Given the description of an element on the screen output the (x, y) to click on. 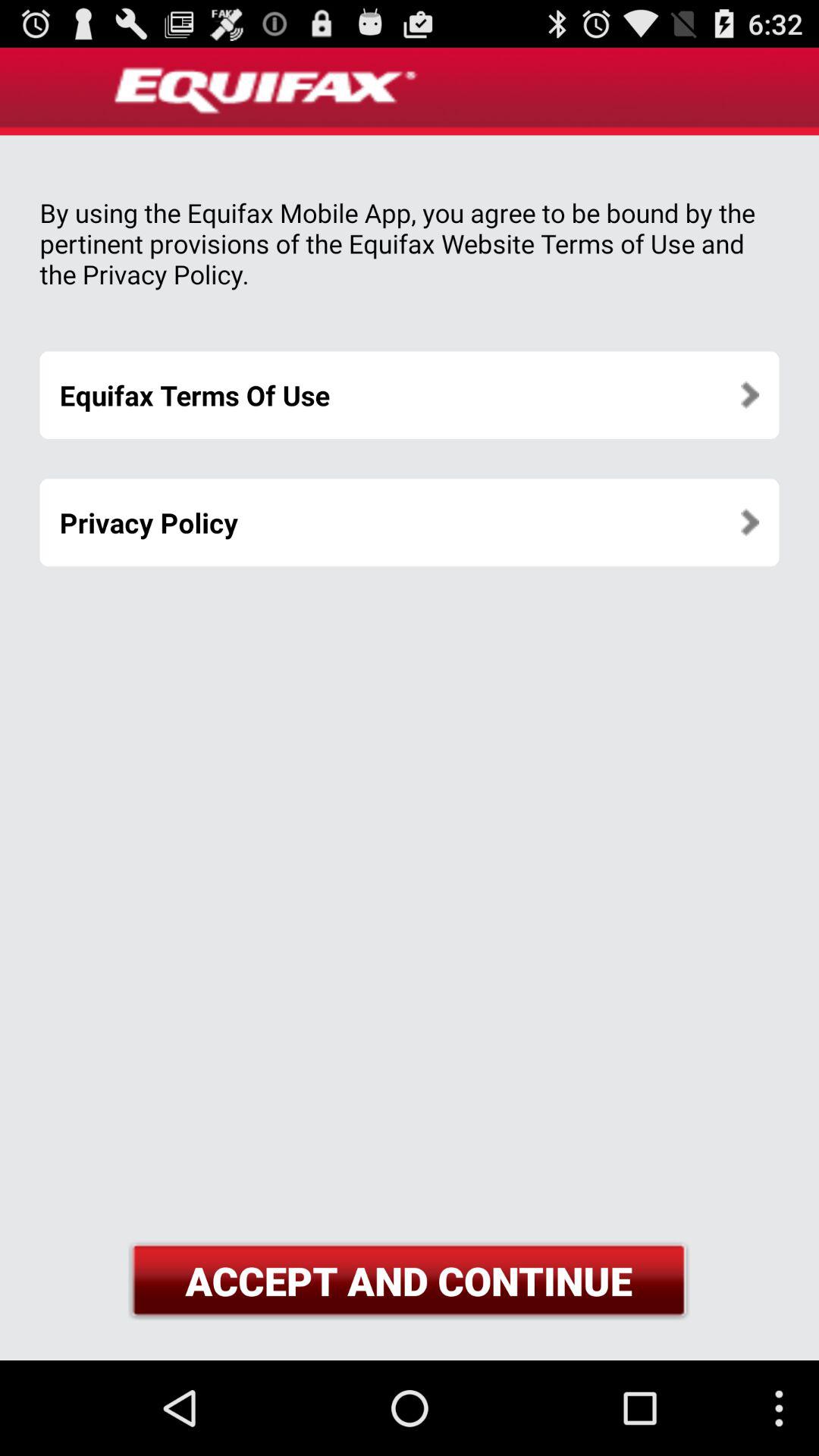
press accept and continue button (408, 1280)
